Given the description of an element on the screen output the (x, y) to click on. 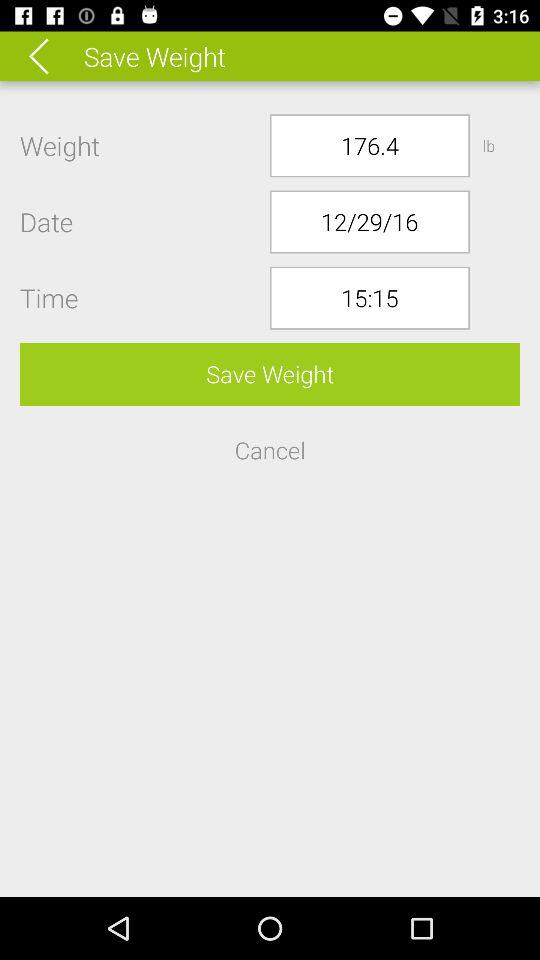
select button below the 12/29/16 icon (369, 297)
